Given the description of an element on the screen output the (x, y) to click on. 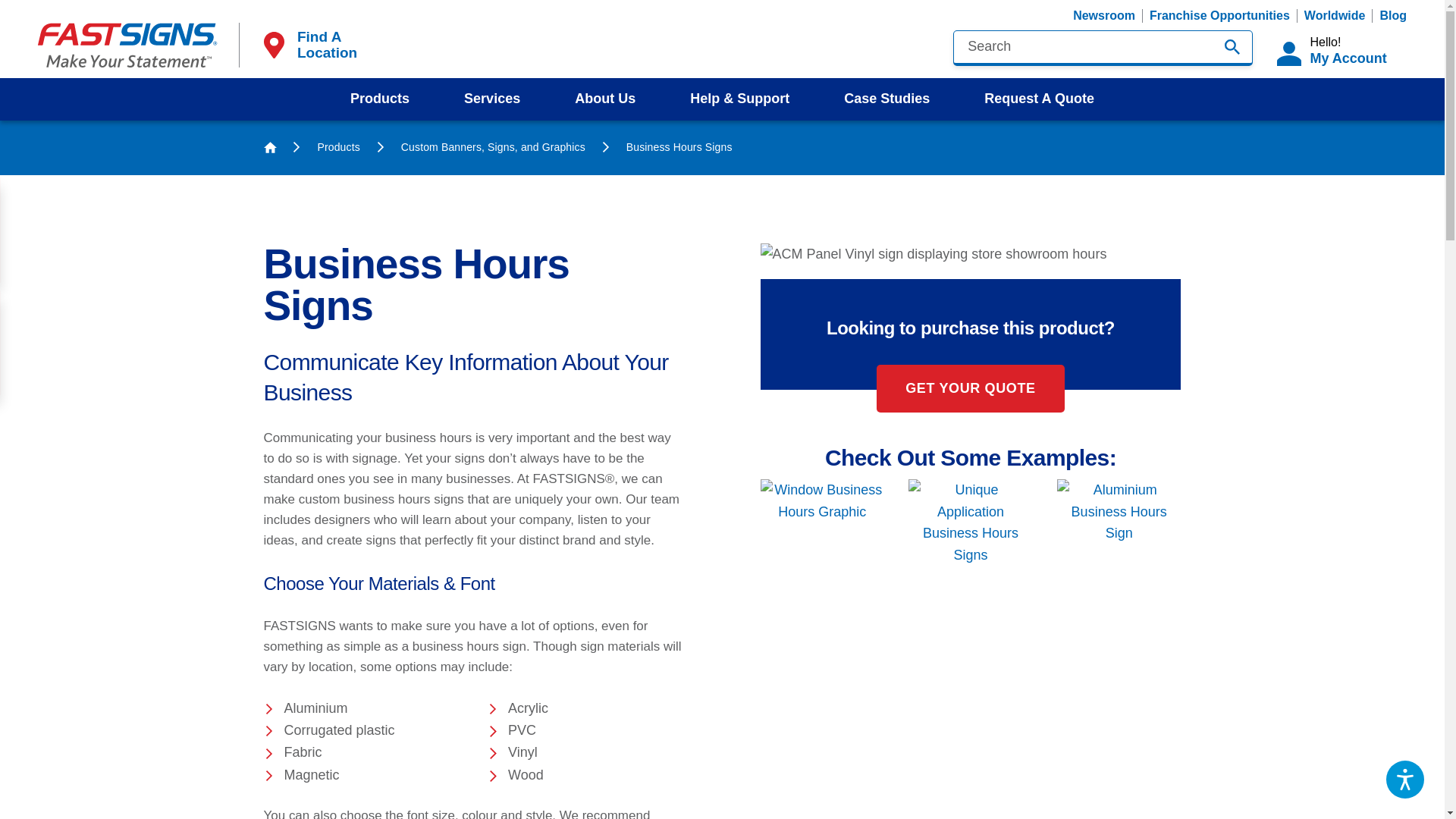
Find A Location (307, 44)
FASTSIGNS (1341, 51)
